Given the description of an element on the screen output the (x, y) to click on. 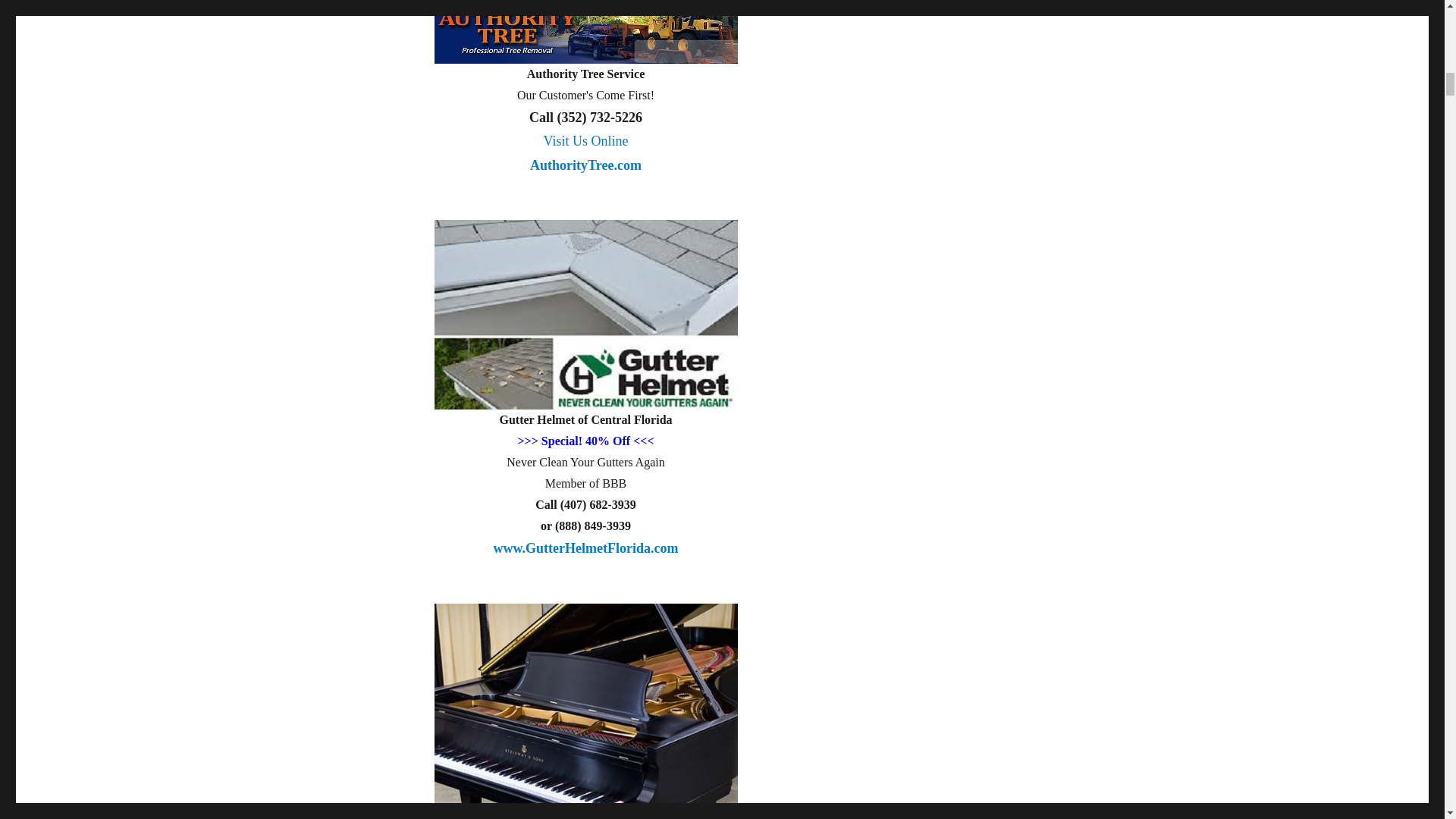
www.GutterHelmetFlorida.com (585, 161)
